Given the description of an element on the screen output the (x, y) to click on. 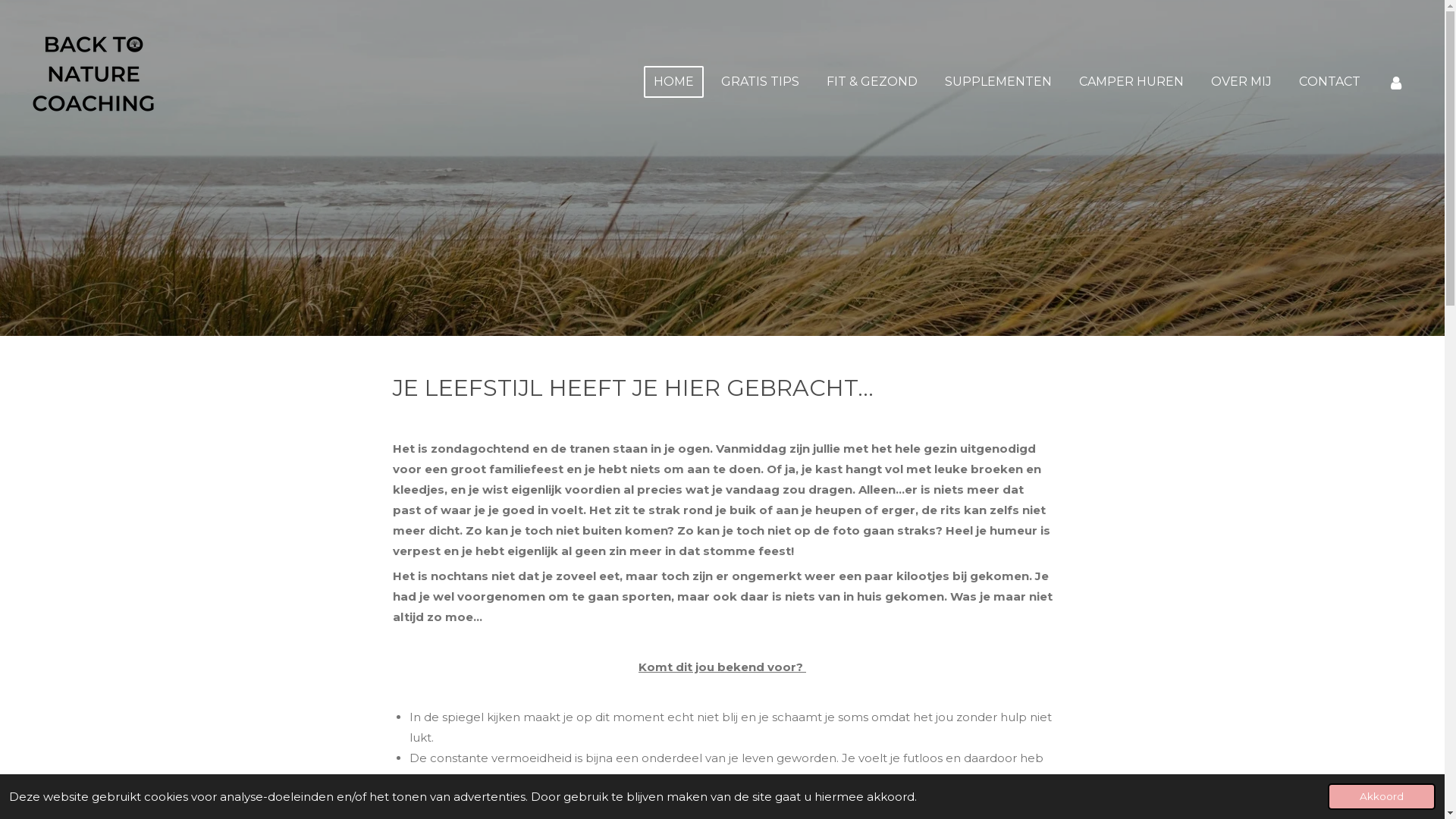
CONTACT Element type: text (1329, 81)
HOME Element type: text (673, 81)
GRATIS TIPS Element type: text (760, 81)
Account Element type: hover (1395, 81)
OVER MIJ Element type: text (1241, 81)
Akkoord Element type: text (1381, 796)
SUPPLEMENTEN Element type: text (998, 81)
backtonature-coaching.be Element type: hover (93, 81)
FIT & GEZOND Element type: text (871, 81)
CAMPER HUREN Element type: text (1131, 81)
